Given the description of an element on the screen output the (x, y) to click on. 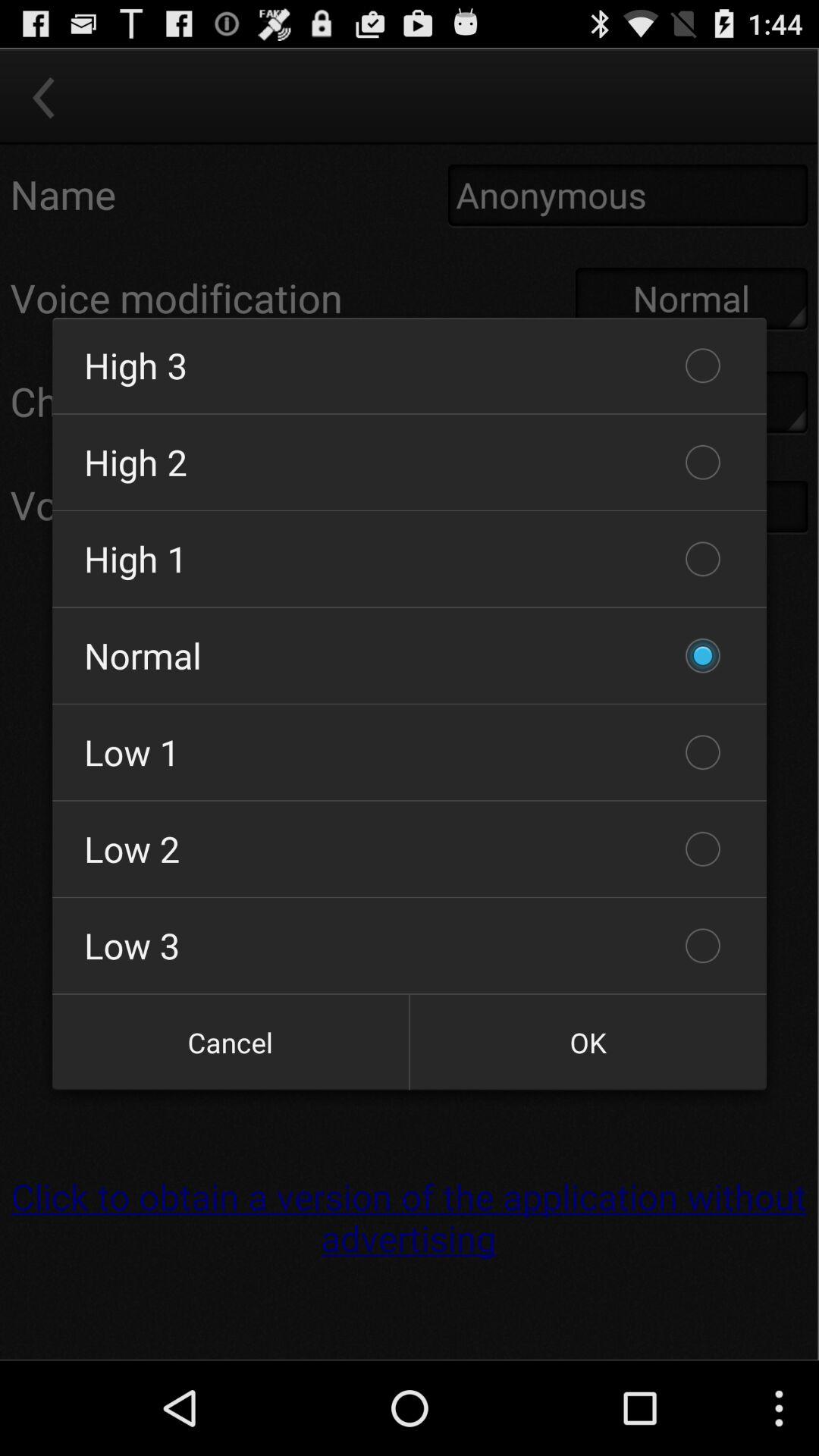
choose the ok item (588, 1042)
